Given the description of an element on the screen output the (x, y) to click on. 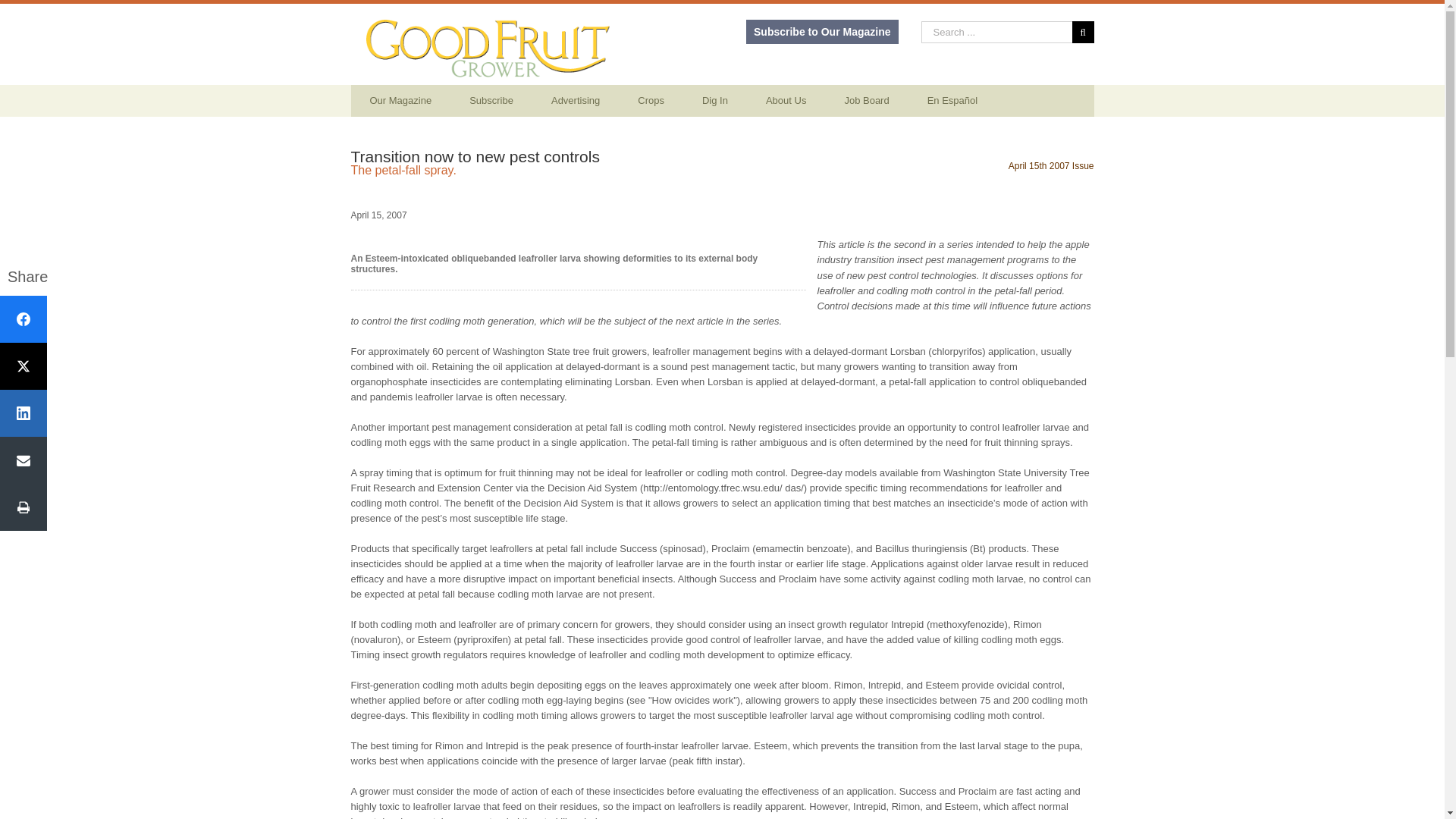
Our Magazine (400, 101)
Subscribe (490, 101)
Subscribe to Our Magazine (821, 31)
Advertising (575, 101)
About Us (785, 101)
